Given the description of an element on the screen output the (x, y) to click on. 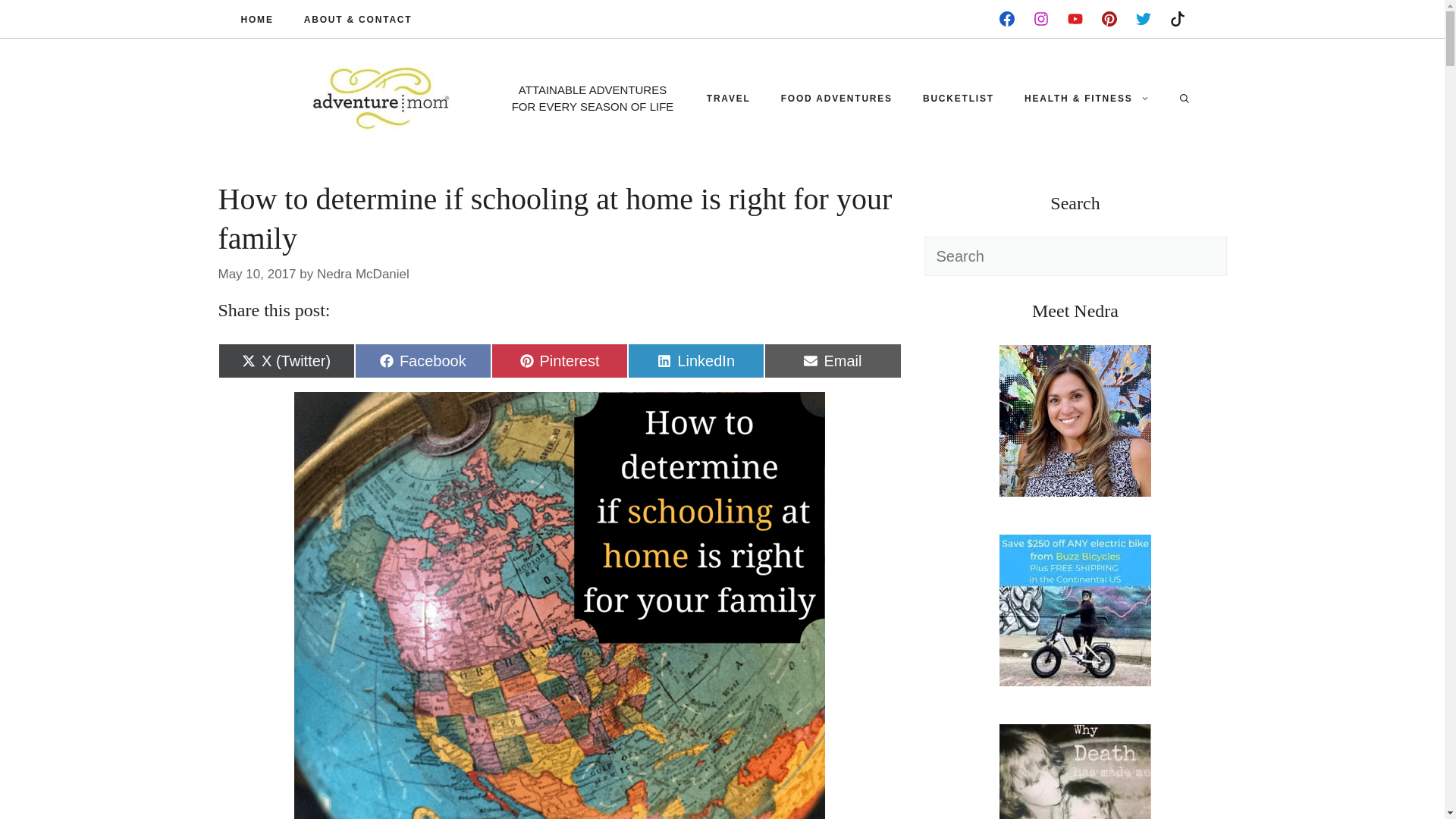
HOME (832, 360)
Nedra McDaniel (257, 18)
TRAVEL (363, 273)
bio pic-1 (728, 98)
xwhy-death-cover-e1416240199623.jpg.pagespeed.ic.4E0VfghJsT (695, 360)
View all posts by Nedra McDaniel (1074, 420)
BUCKETLIST (423, 360)
FOOD ADVENTURES (1074, 771)
